Given the description of an element on the screen output the (x, y) to click on. 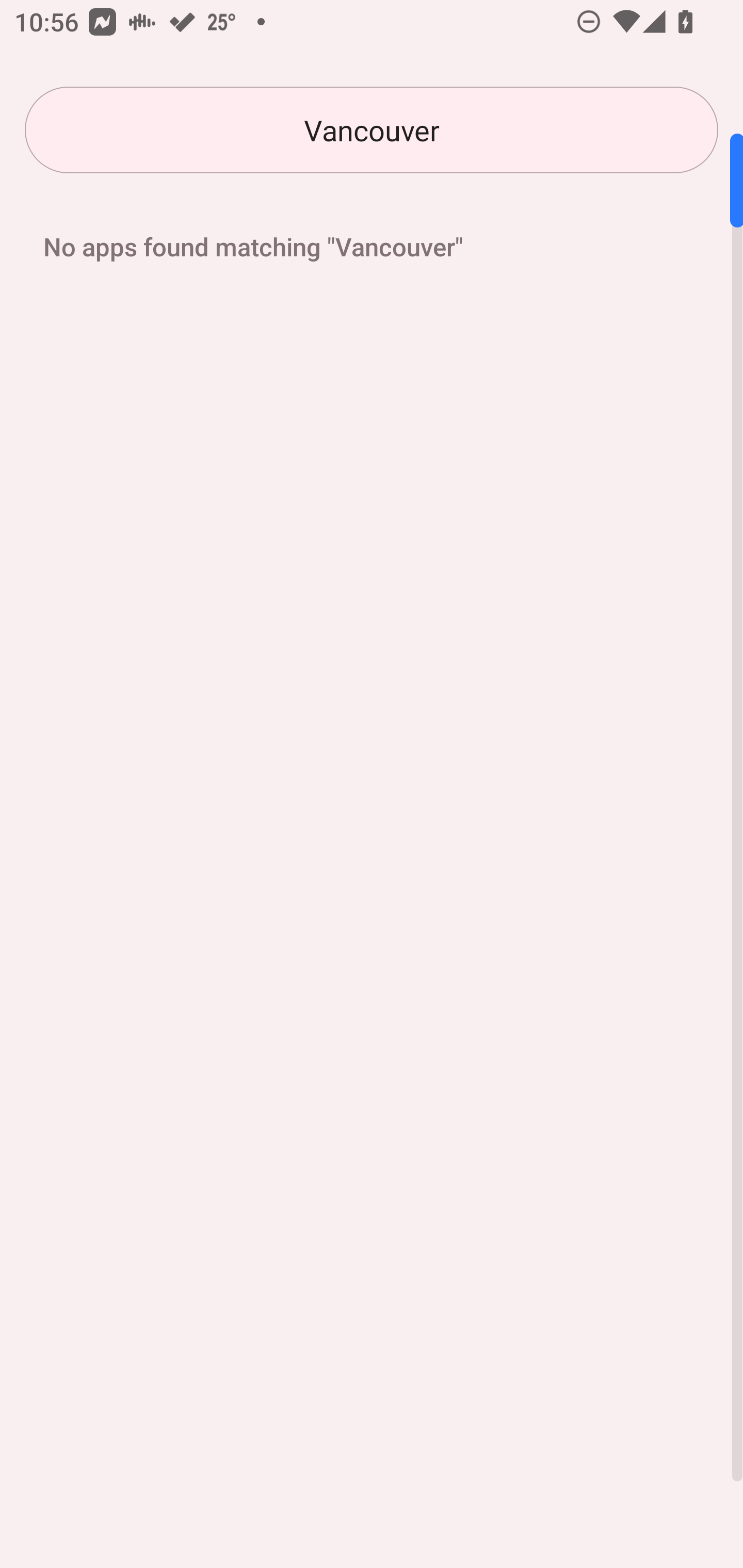
Vancouver (371, 130)
